Given the description of an element on the screen output the (x, y) to click on. 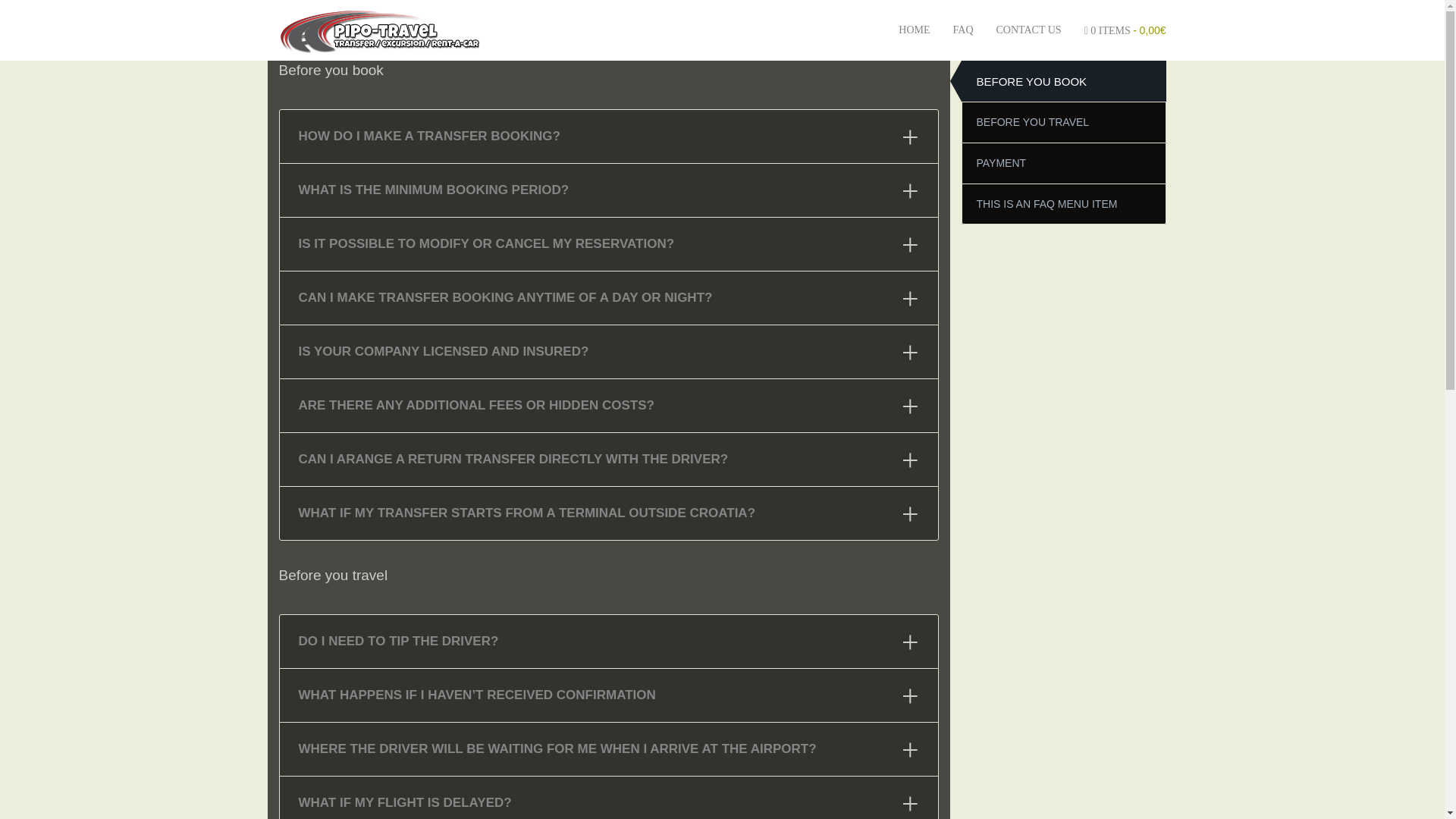
Start shopping (1125, 30)
PAYMENT (1063, 163)
HOME (914, 30)
BEFORE YOU BOOK (1063, 80)
CONTACT US (1028, 30)
THIS IS AN FAQ MENU ITEM (1063, 204)
FAQ (963, 30)
BEFORE YOU TRAVEL (1063, 122)
